Given the description of an element on the screen output the (x, y) to click on. 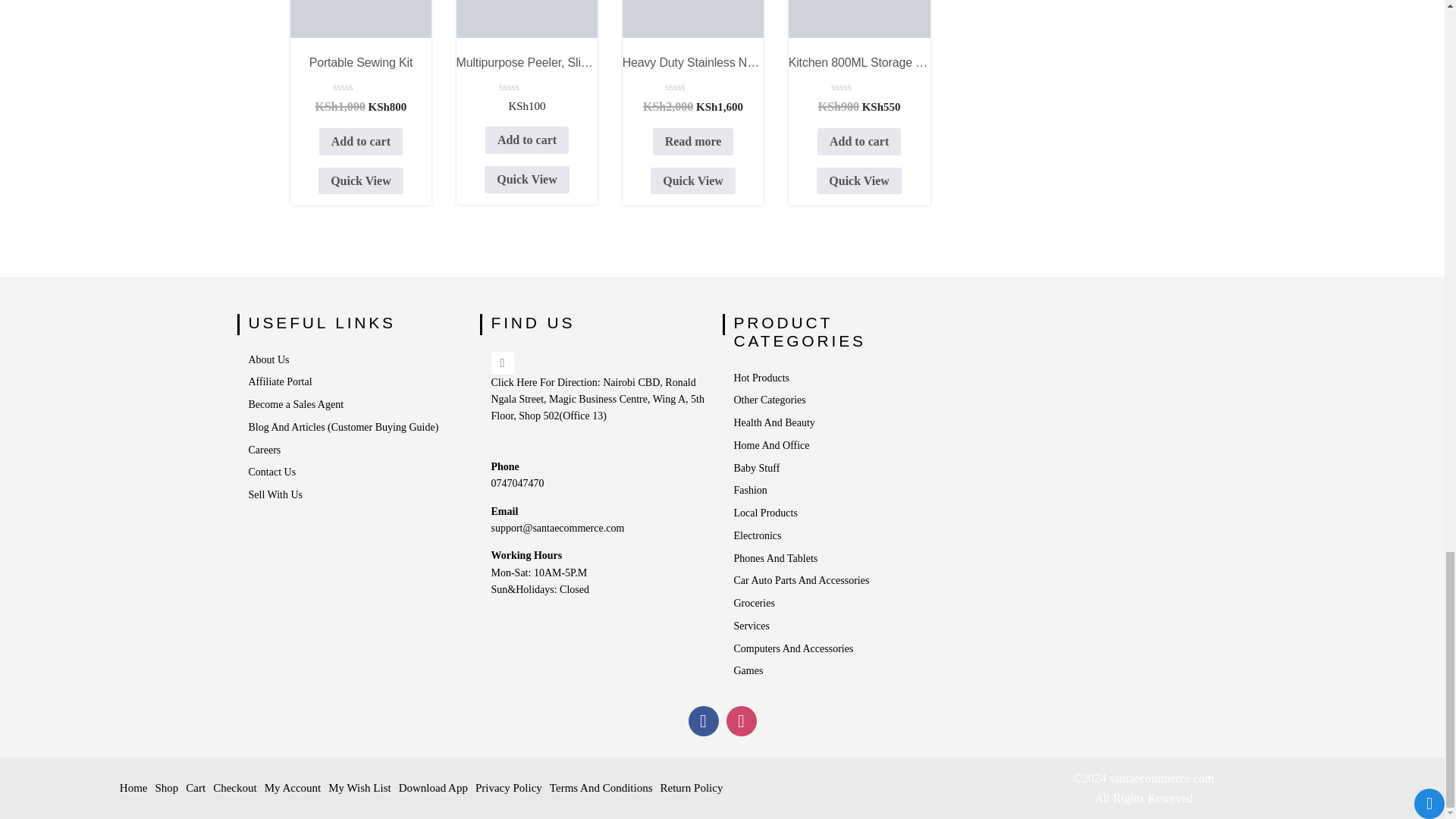
Instagram (741, 720)
Read more (692, 141)
Quick View (360, 180)
Facebook (703, 720)
Add to cart (360, 141)
Quick View (359, 74)
Quick View (692, 180)
Add to cart (526, 179)
